Given the description of an element on the screen output the (x, y) to click on. 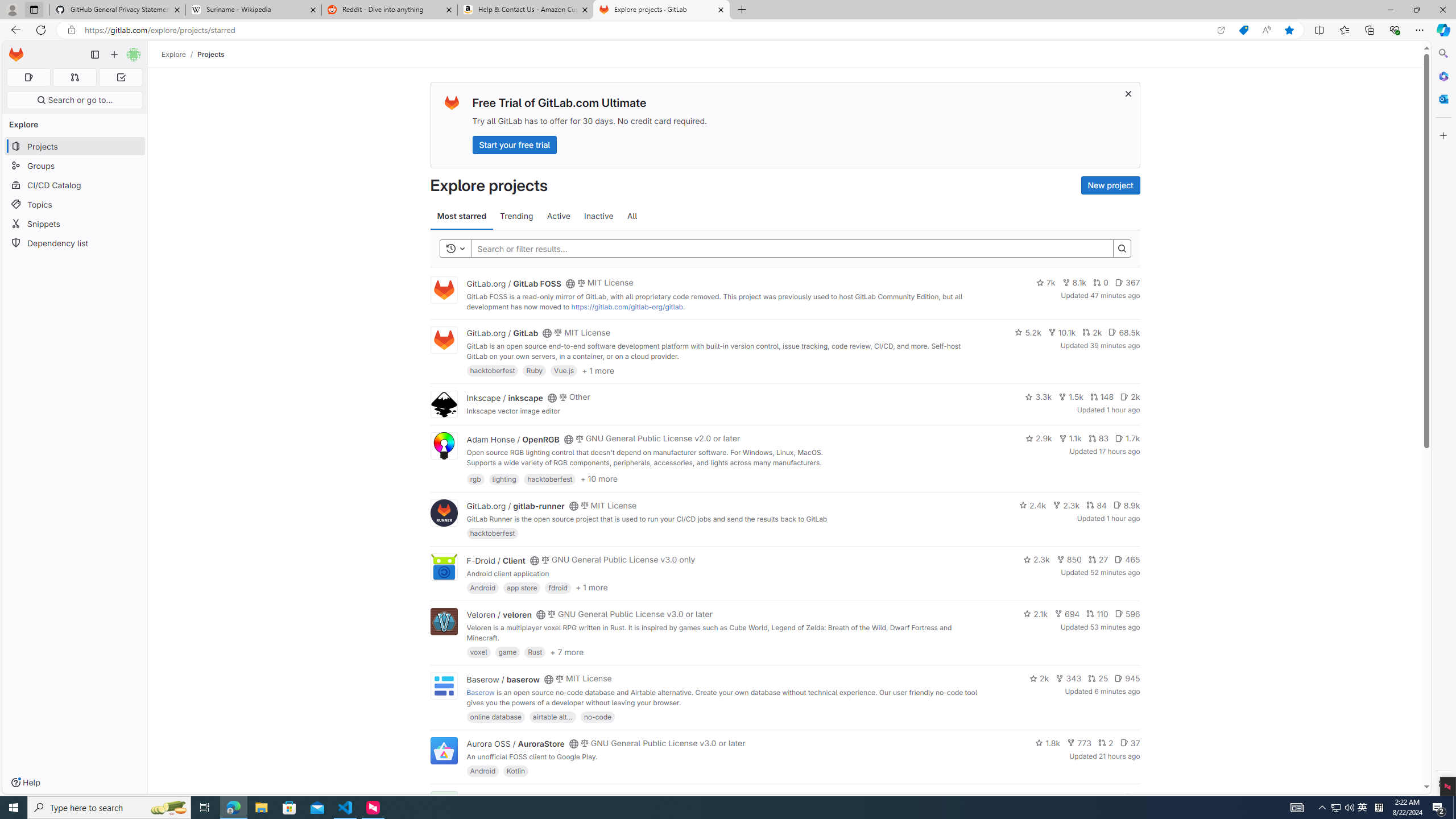
143 (1085, 797)
GitLab.org / GitLab (501, 333)
0 (1100, 282)
Most starred (461, 216)
https://openrgb.org (563, 472)
343 (1068, 678)
rgb (475, 478)
10.1k (1061, 331)
+ 10 more (599, 478)
voxel (478, 651)
596 (1127, 613)
airtable alt... (552, 715)
25 (1097, 678)
